Given the description of an element on the screen output the (x, y) to click on. 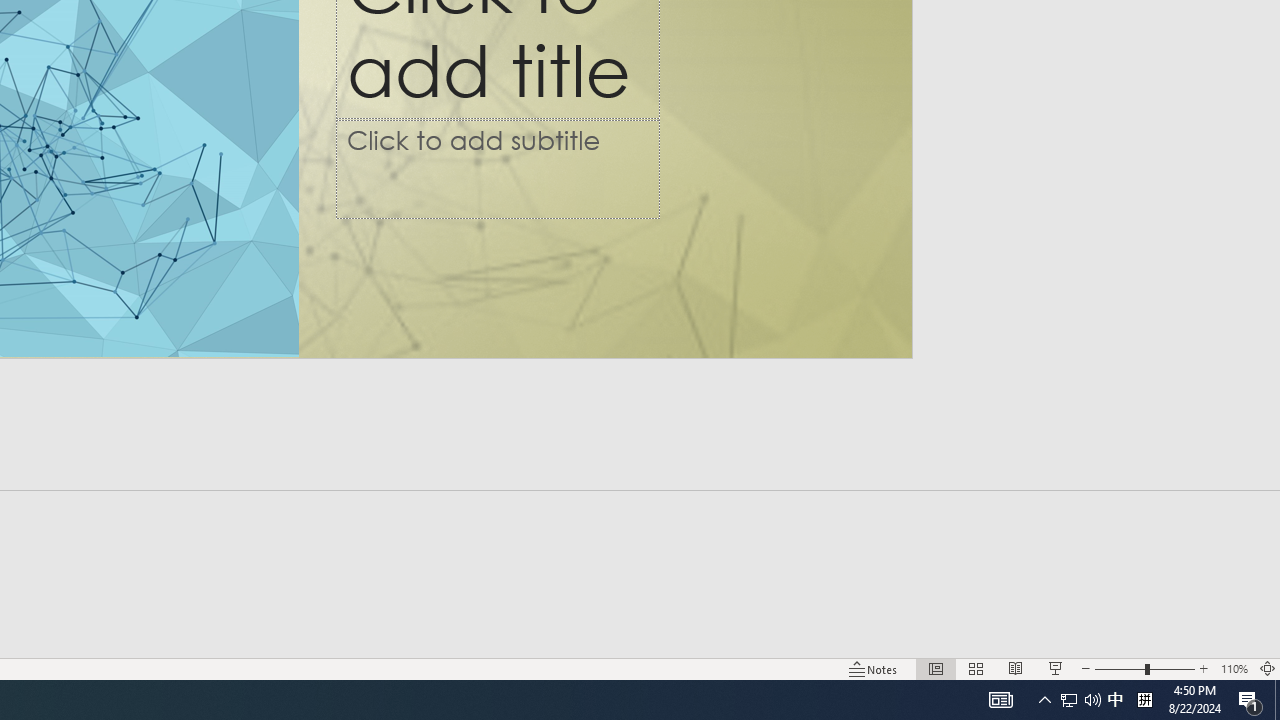
Zoom 110% (1234, 668)
